Given the description of an element on the screen output the (x, y) to click on. 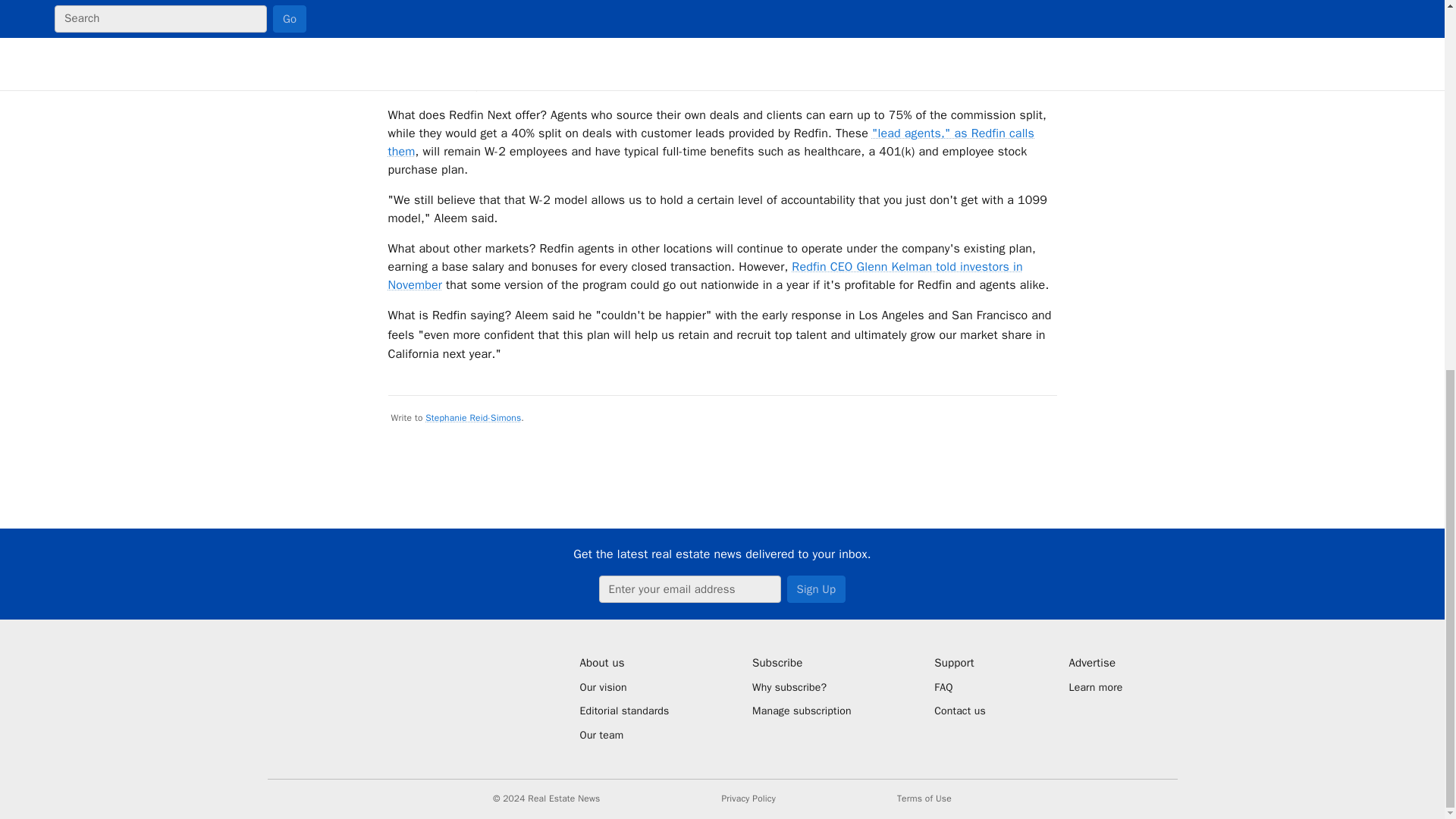
Editorial standards (623, 711)
Privacy Policy (748, 798)
Stephanie Reid-Simons (473, 418)
Sign Up (816, 588)
Contact us (959, 711)
Learn more (1095, 687)
Why subscribe? (801, 687)
Manage subscription (801, 711)
"lead agents," as Redfin calls them (711, 142)
Our vision (623, 687)
FAQ (959, 687)
Redfin Next (494, 3)
Our team (623, 735)
Redfin CEO Glenn Kelman told investors in November (705, 275)
Terms of Use (924, 798)
